Given the description of an element on the screen output the (x, y) to click on. 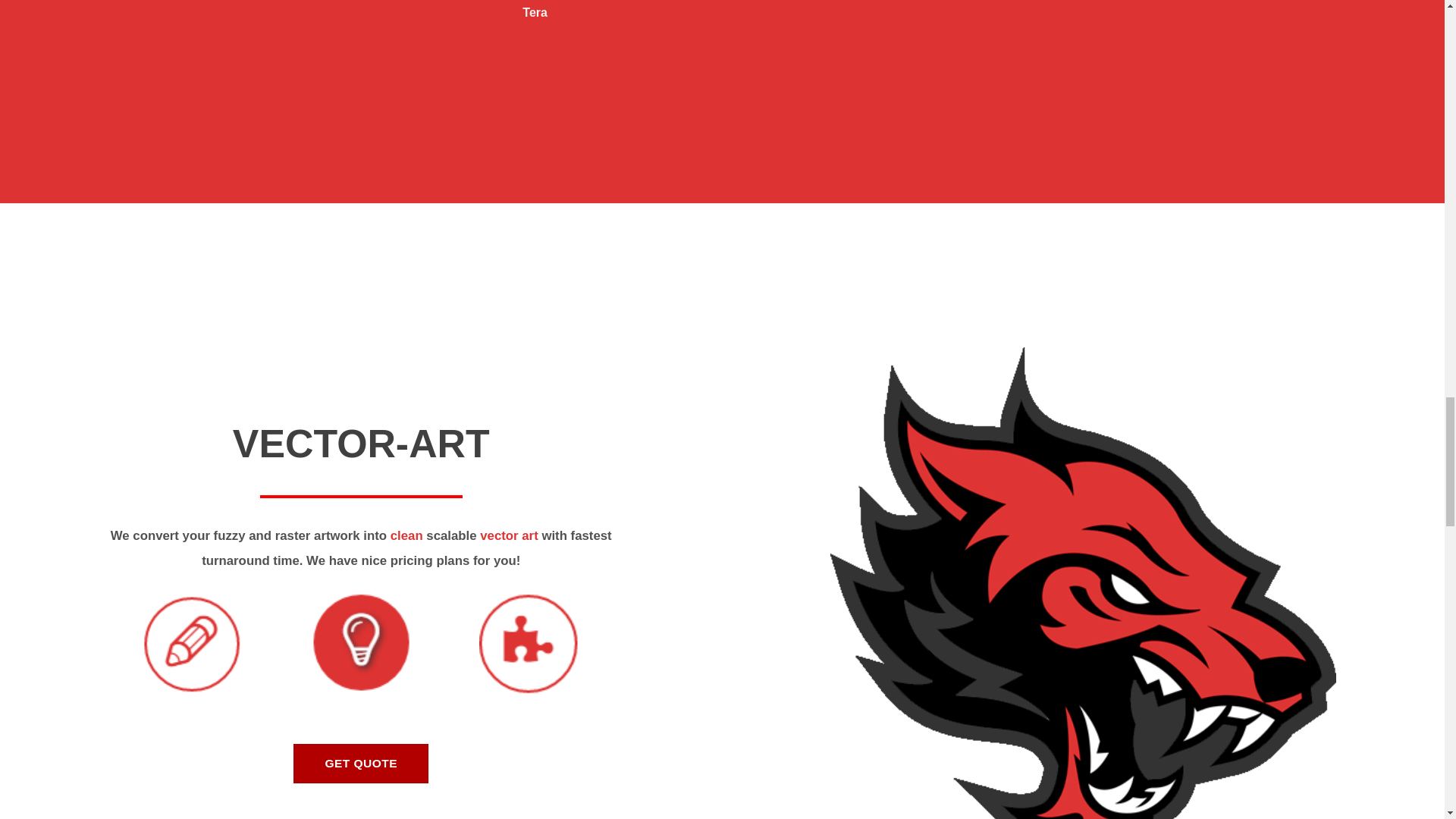
GET QUOTE (361, 763)
